Given the description of an element on the screen output the (x, y) to click on. 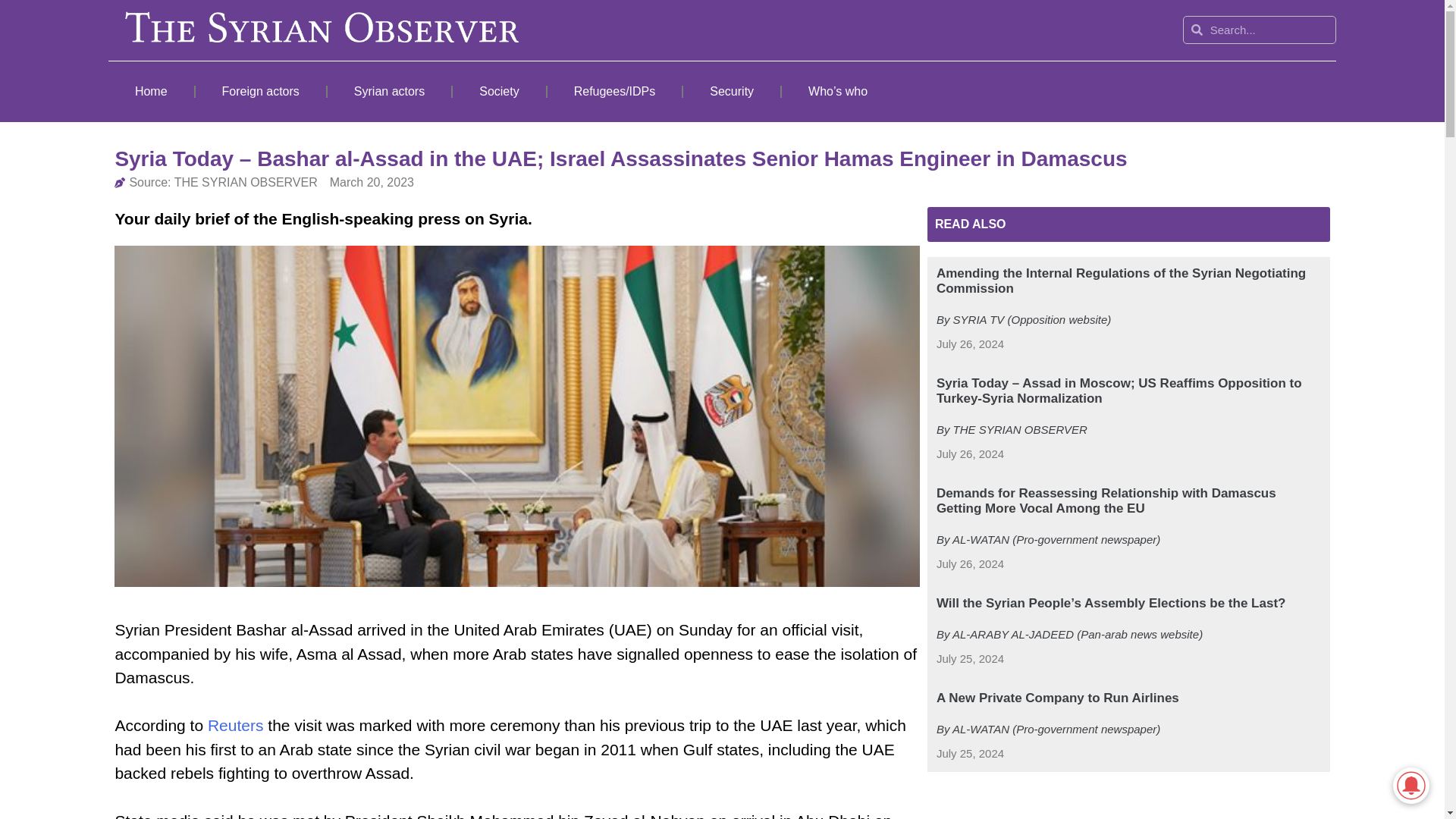
Syrian actors (389, 91)
Security (731, 91)
Society (498, 91)
Home (150, 91)
Reuters (233, 724)
Foreign actors (260, 91)
